Given the description of an element on the screen output the (x, y) to click on. 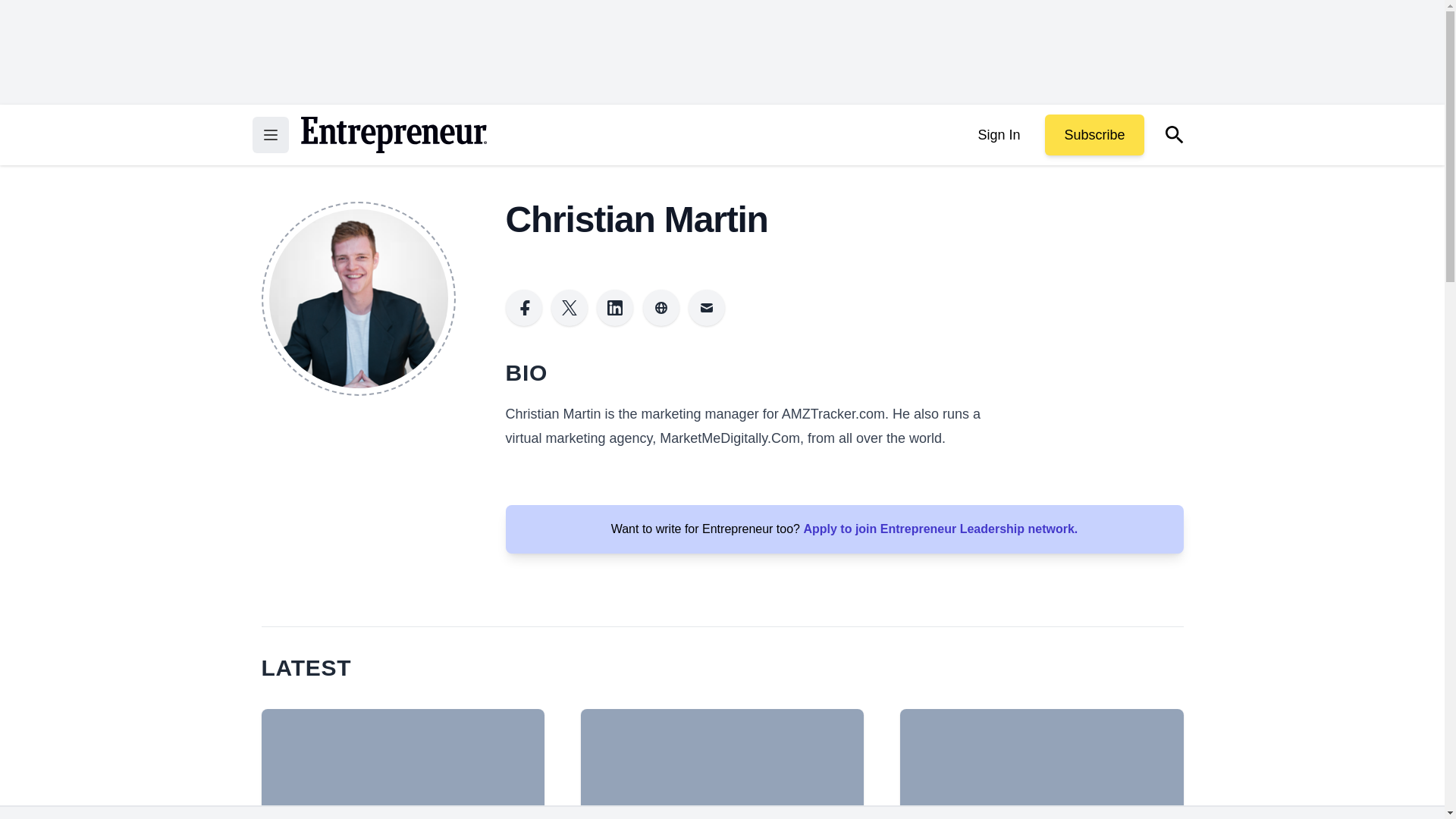
linkedin (614, 307)
twitter (569, 307)
website (661, 307)
Sign In (998, 134)
email (706, 307)
Subscribe (1093, 134)
Return to the home page (392, 135)
facebook (523, 307)
